Given the description of an element on the screen output the (x, y) to click on. 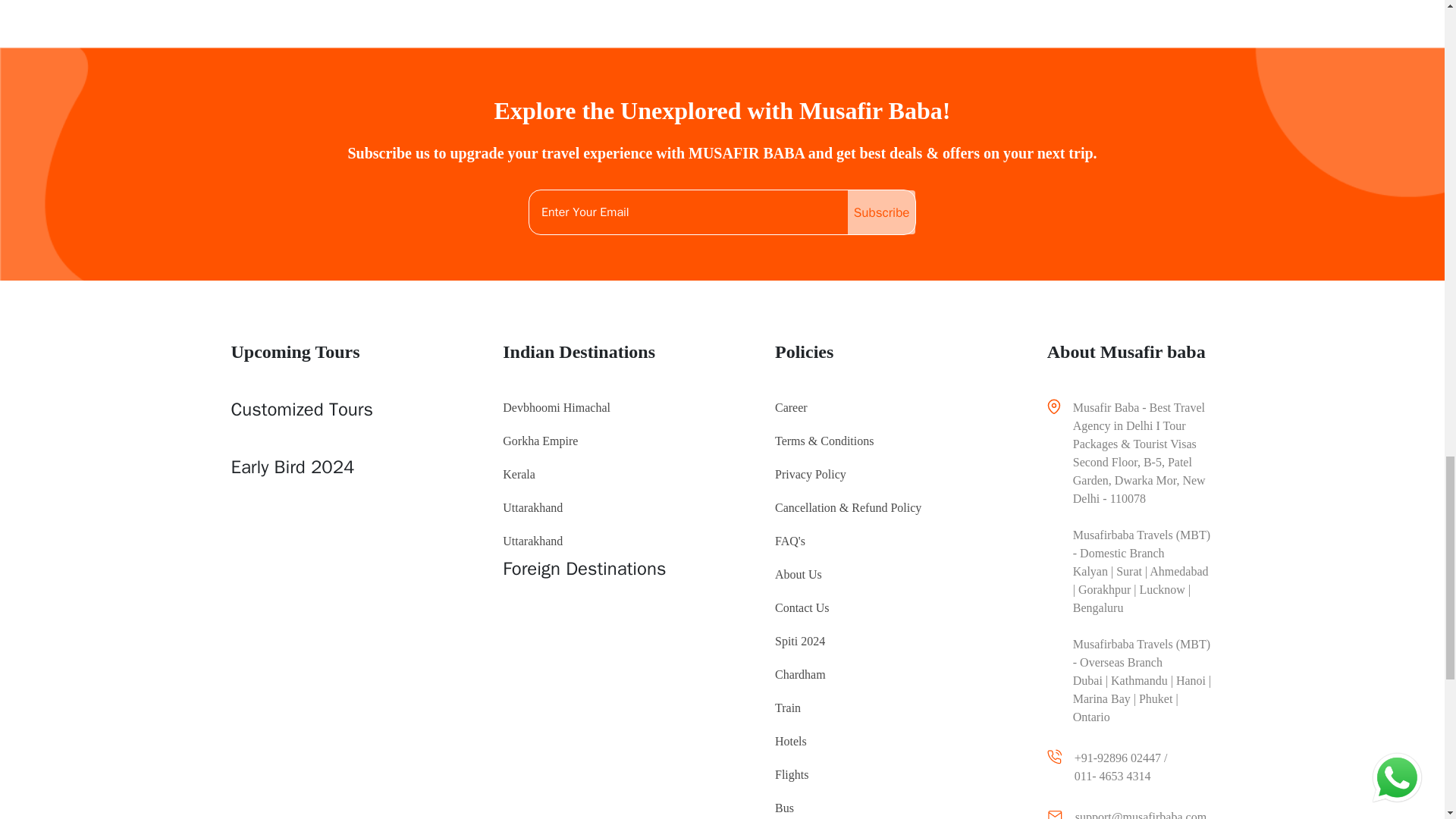
Subscribe (881, 212)
